Given the description of an element on the screen output the (x, y) to click on. 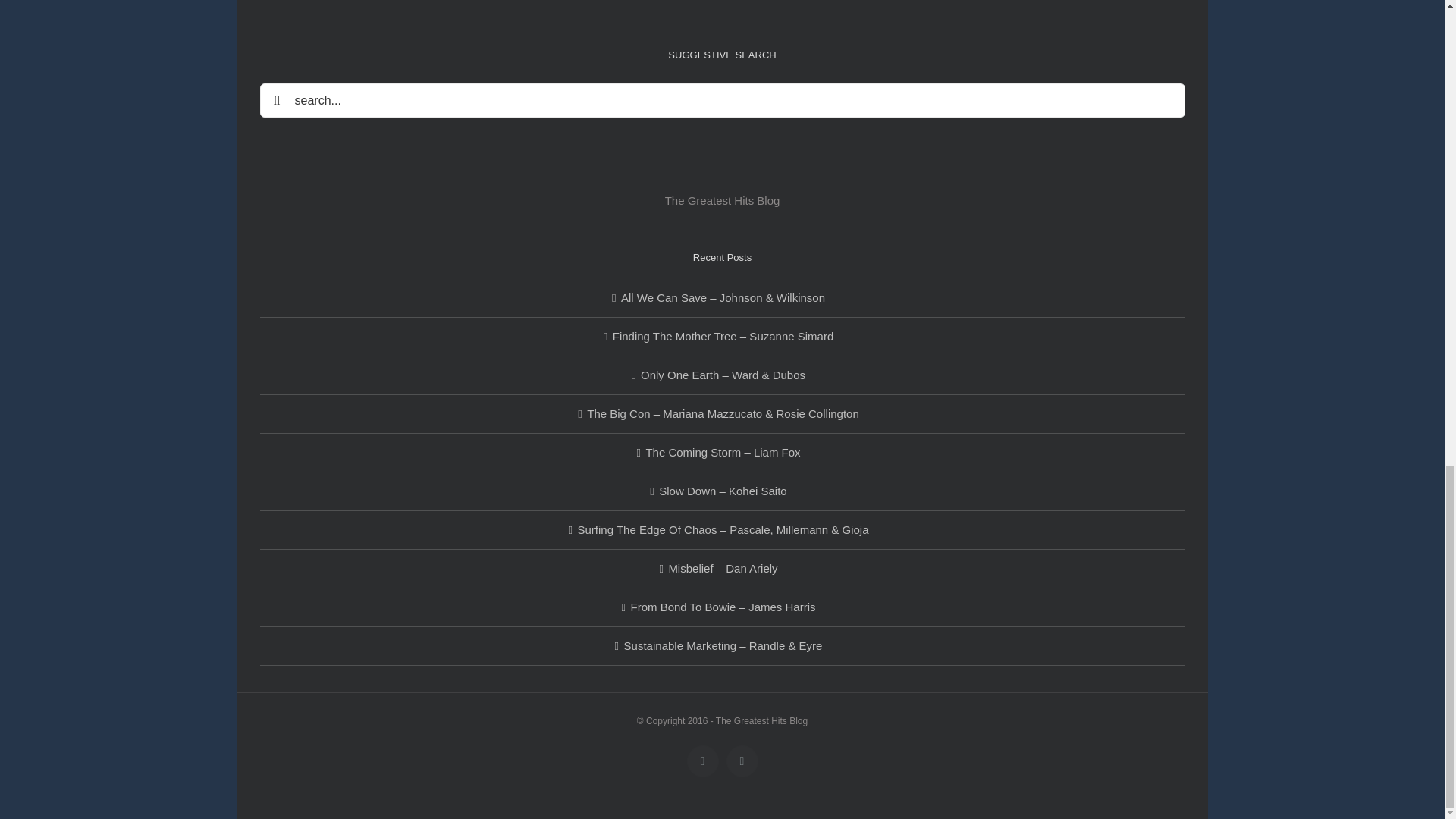
X (742, 761)
Facebook (703, 761)
X (742, 761)
Facebook (703, 761)
